Given the description of an element on the screen output the (x, y) to click on. 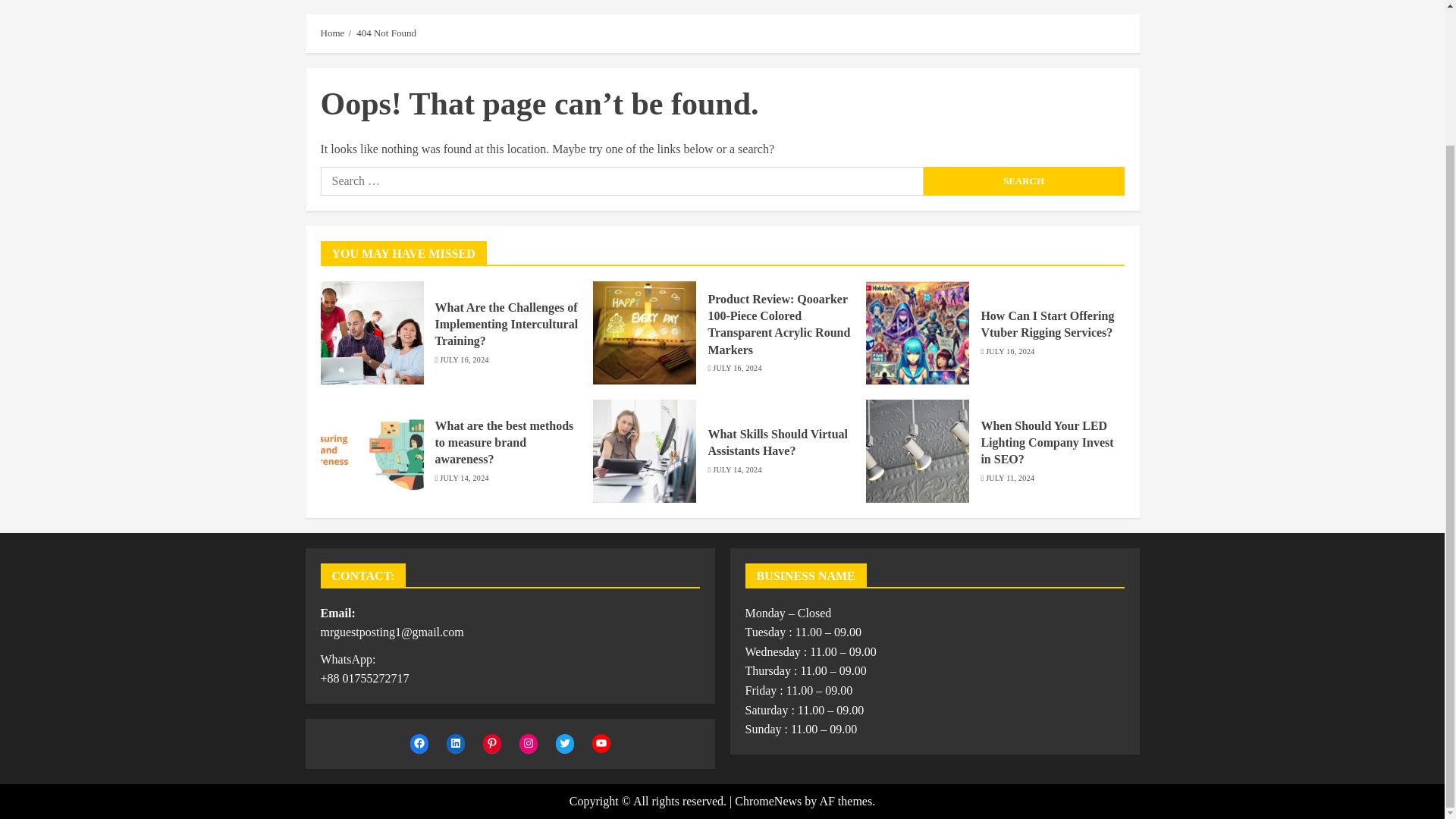
404 Not Found (386, 33)
JULY 14, 2024 (463, 478)
Pinterest (490, 742)
Home (331, 33)
JULY 16, 2024 (1009, 351)
Facebook (418, 742)
Search (1023, 181)
How Can I Start Offering Vtuber Rigging Services? (1046, 324)
JULY 16, 2024 (737, 368)
JULY 11, 2024 (1009, 478)
When Should Your LED Lighting Company Invest in SEO? (1046, 442)
What are the best methods to measure brand awareness? (504, 442)
Search (1023, 181)
